Given the description of an element on the screen output the (x, y) to click on. 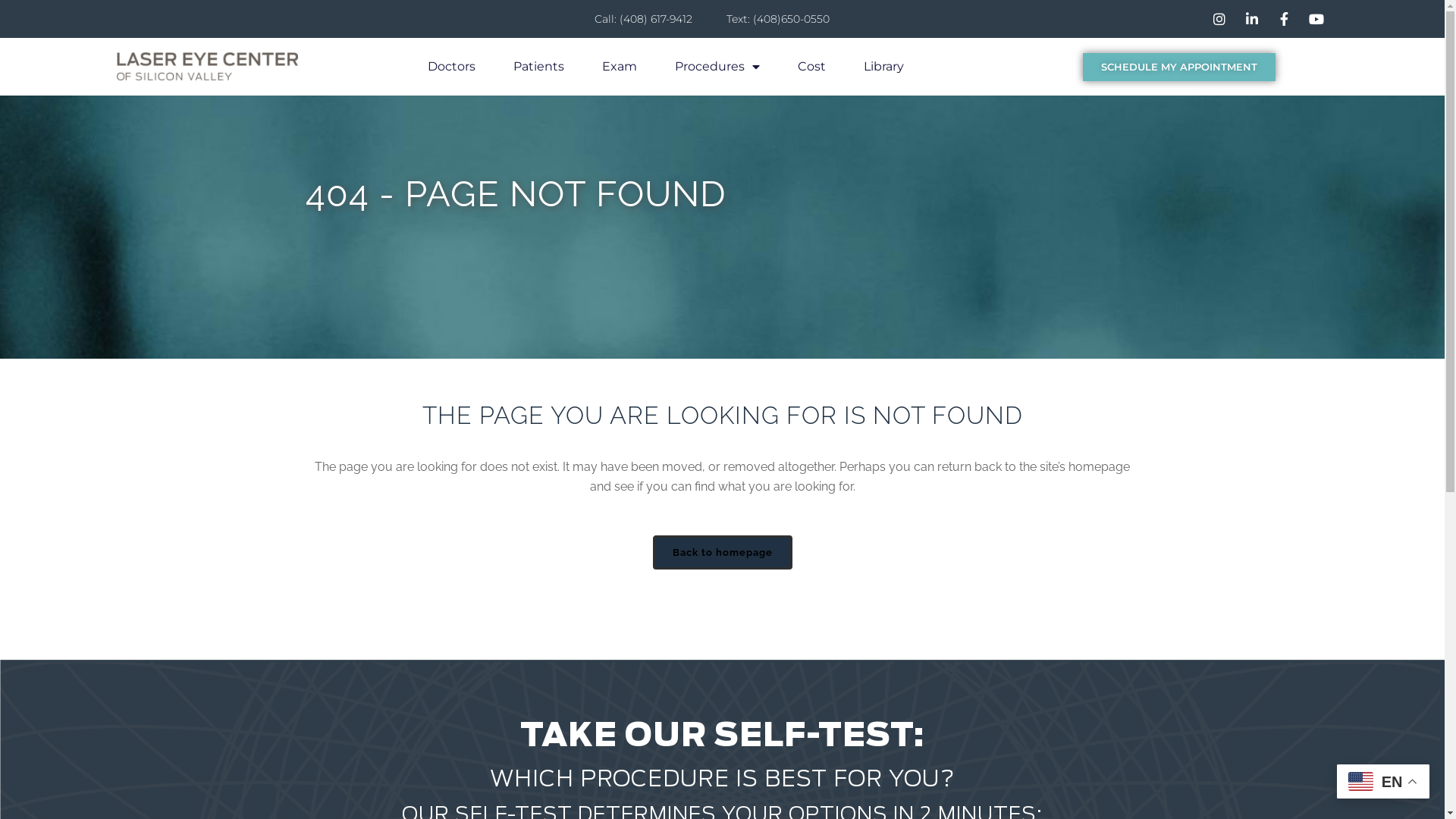
Call: (408) 617-9412 Element type: text (637, 18)
Exam Element type: text (619, 66)
SCHEDULE MY APPOINTMENT Element type: text (1178, 67)
Library Element type: text (883, 66)
Procedures Element type: text (716, 66)
Text: (408)650-0550 Element type: text (772, 18)
Cost Element type: text (811, 66)
Patients Element type: text (538, 66)
Doctors Element type: text (451, 66)
Back to homepage Element type: text (721, 552)
